Given the description of an element on the screen output the (x, y) to click on. 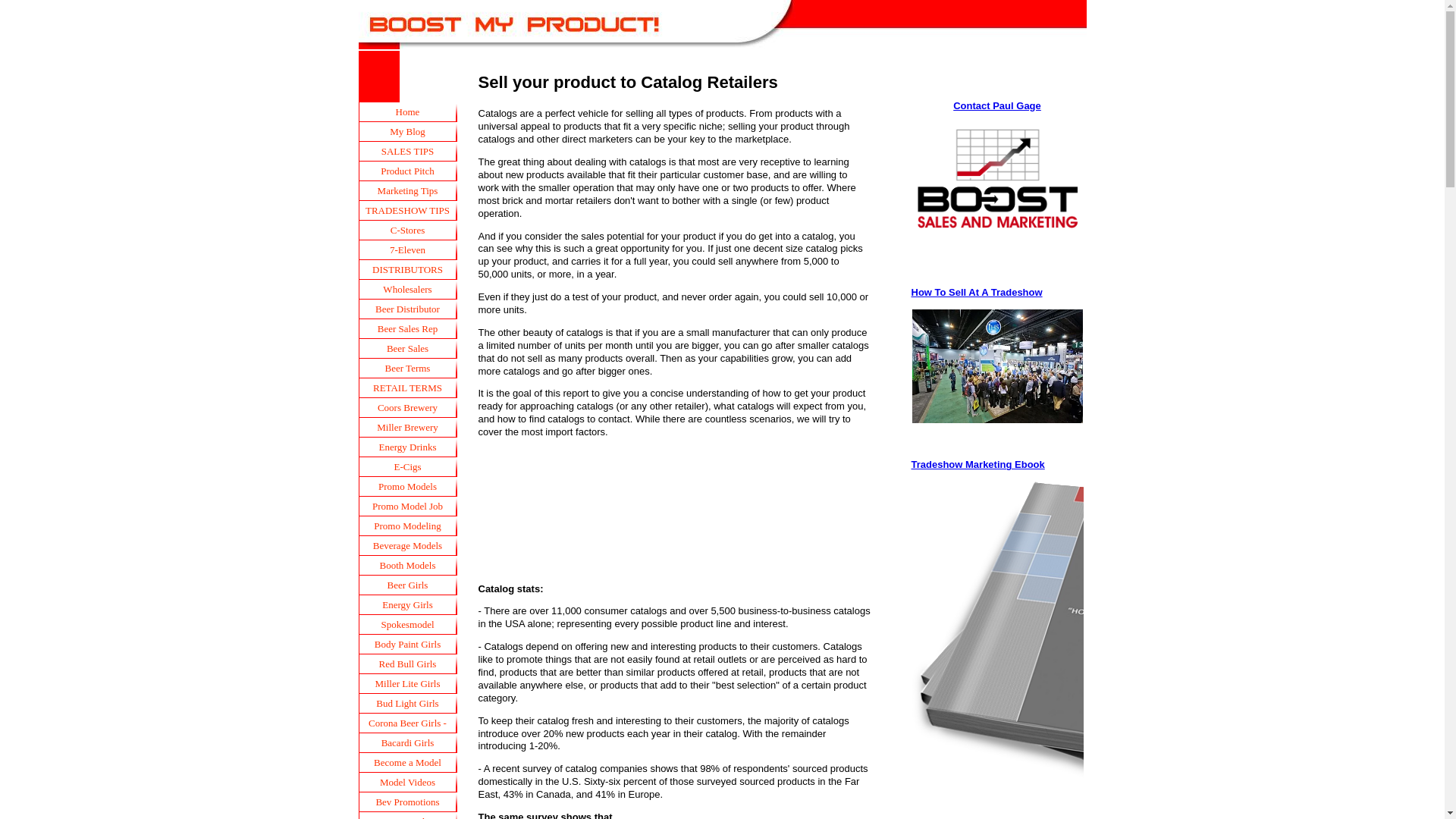
E-Cigs (407, 466)
Promo Models (407, 486)
Promo Modeling (407, 526)
Energy Girls (407, 605)
Marketing Tips (407, 190)
Wholesalers (407, 289)
Beer Girls (407, 585)
Energy Drinks (407, 447)
Model Videos (407, 782)
Beer Sales (407, 348)
Beverage Models (407, 546)
Bev Promotions (407, 802)
Home (407, 112)
Beer Distributor (407, 309)
